Given the description of an element on the screen output the (x, y) to click on. 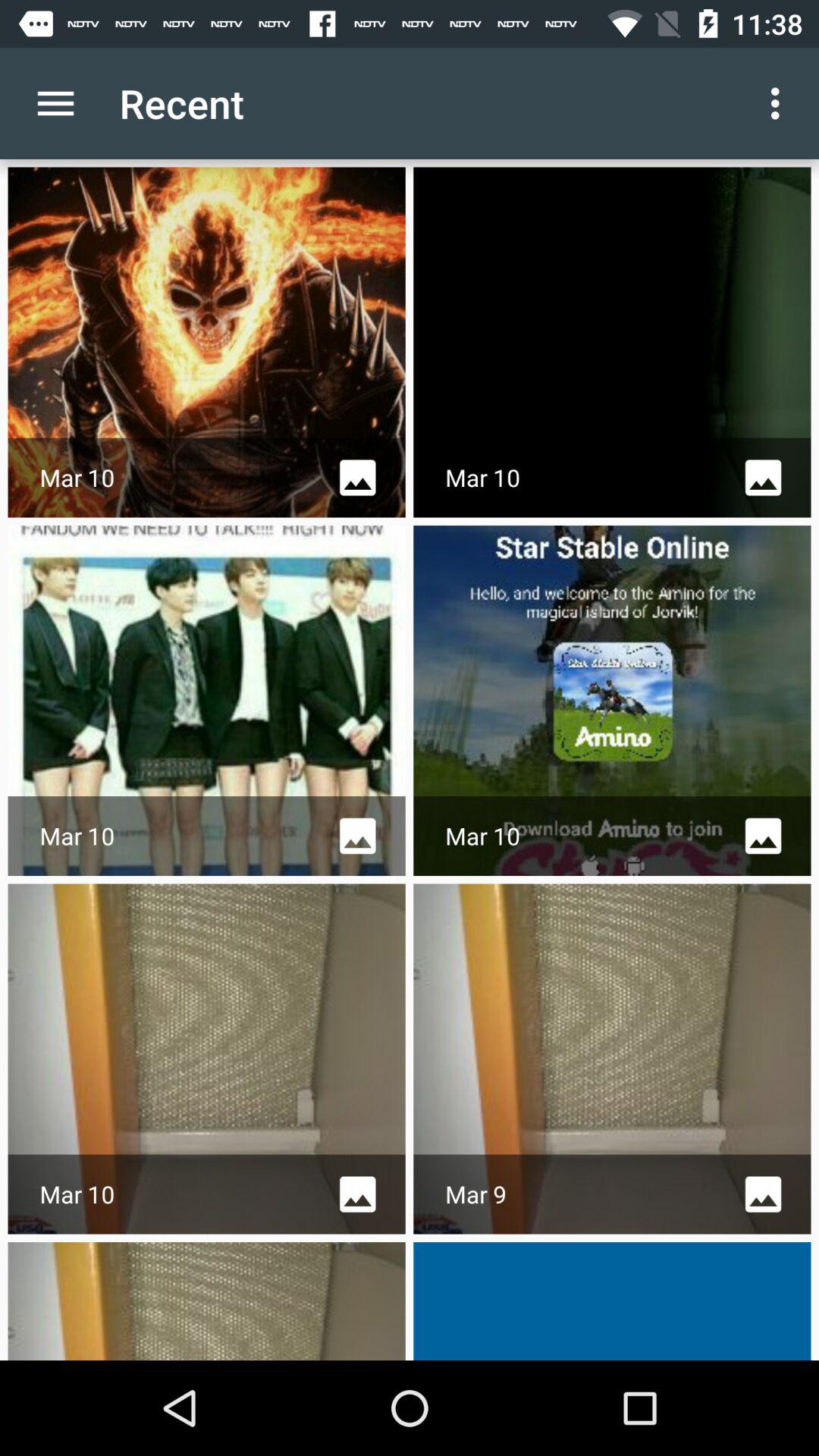
tap the app next to recent icon (779, 103)
